Given the description of an element on the screen output the (x, y) to click on. 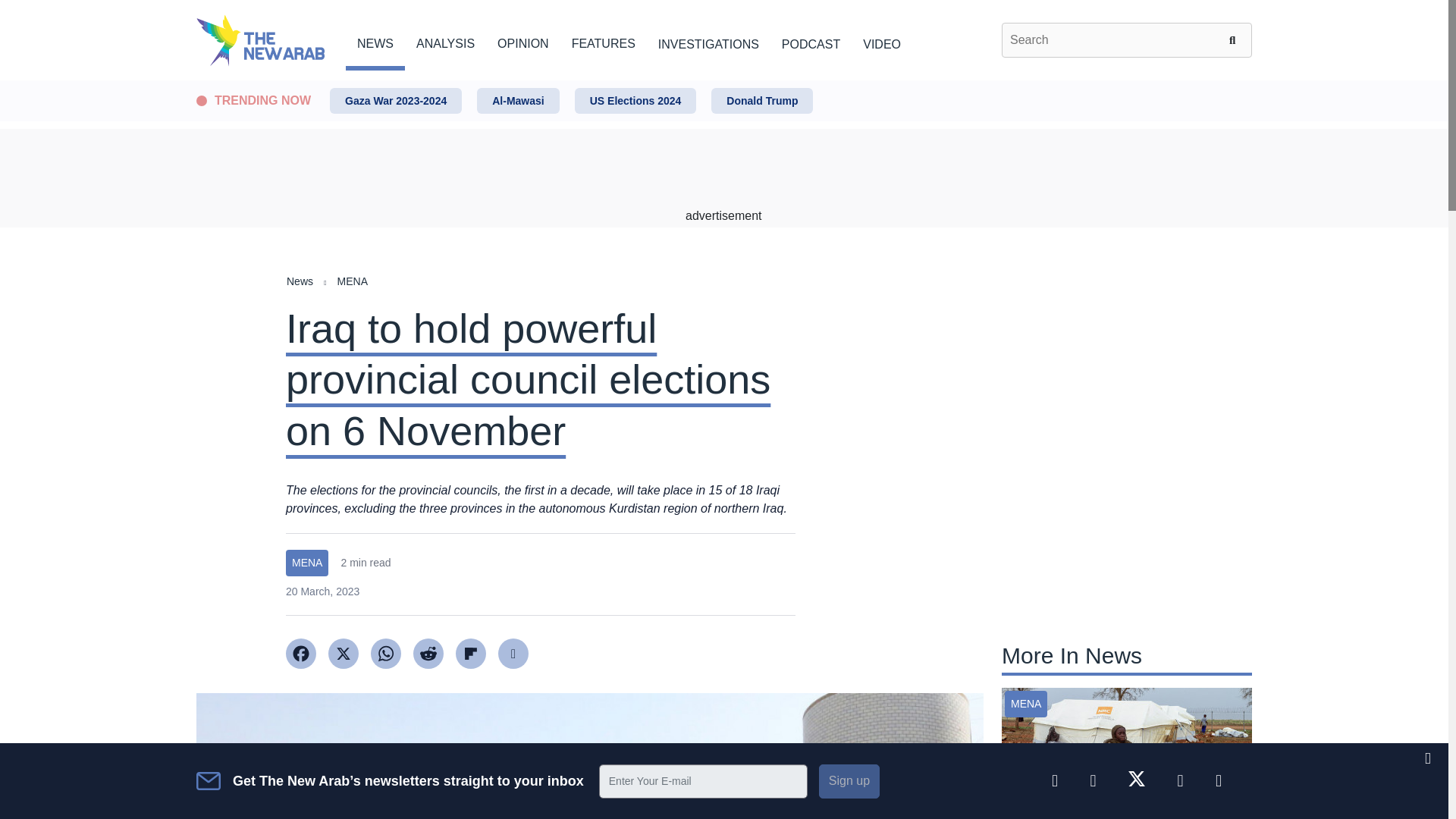
Search (1234, 39)
ANALYSIS (445, 41)
OPINION (523, 41)
NEWS (375, 41)
Skip to main content (724, 81)
